Given the description of an element on the screen output the (x, y) to click on. 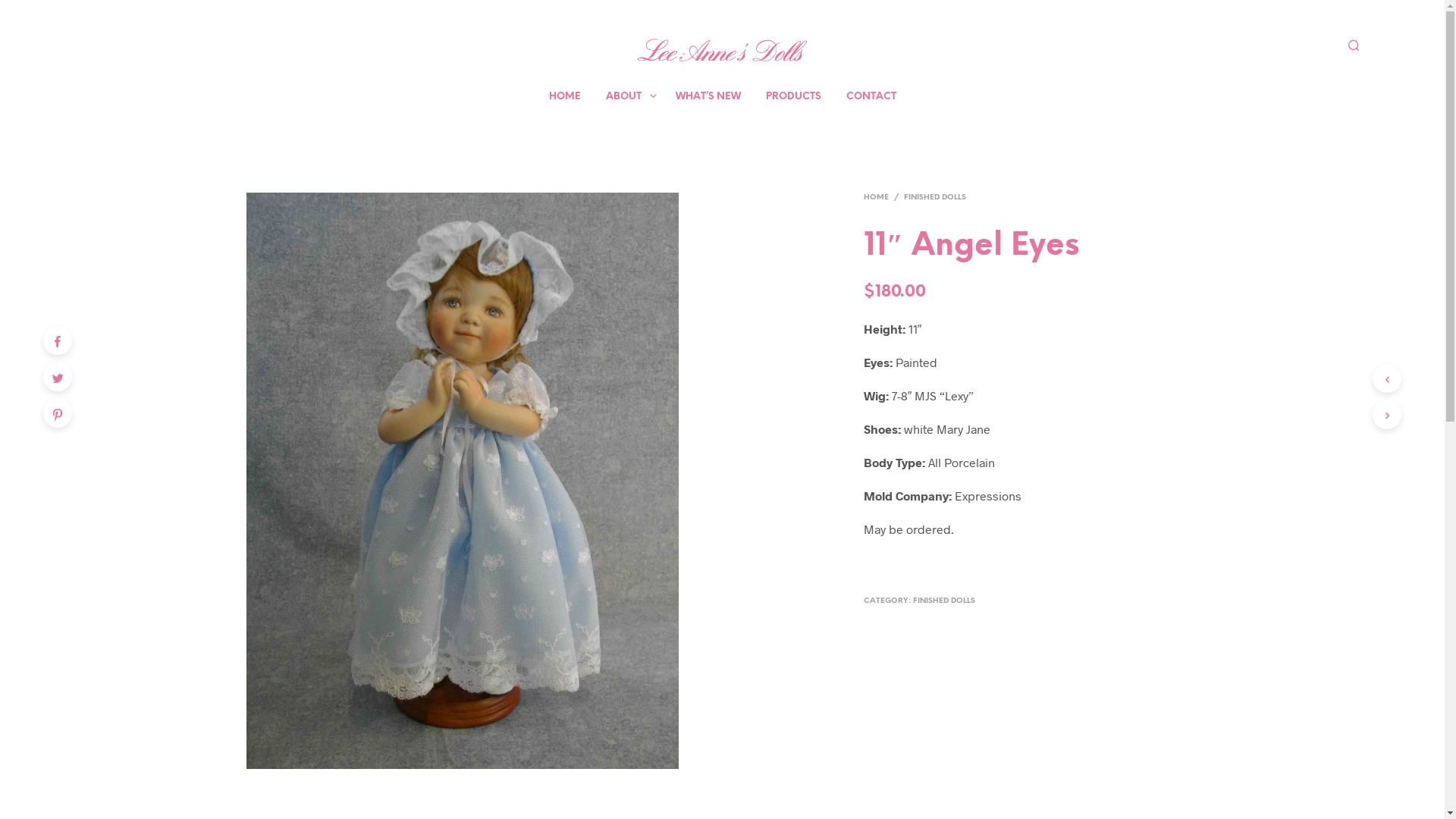
FINISHED DOLLS Element type: text (944, 600)
Angel Eyes Finished Doll Element type: hover (462, 480)
HOME Element type: text (563, 96)
HOME Element type: text (878, 197)
PRODUCTS Element type: text (792, 96)
ABOUT Element type: text (623, 96)
CONTACT Element type: text (870, 96)
FINISHED DOLLS Element type: text (934, 197)
